Given the description of an element on the screen output the (x, y) to click on. 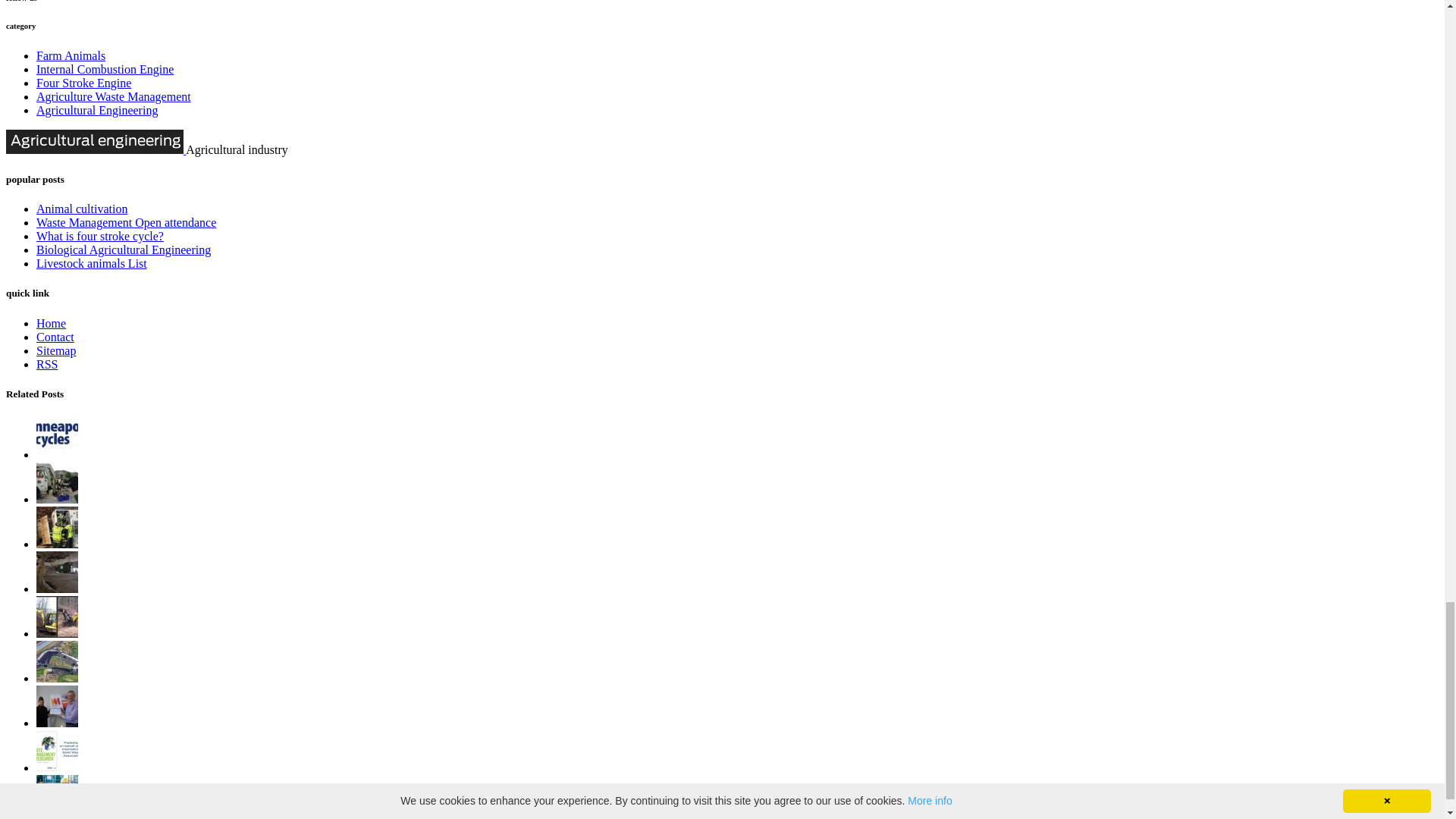
What is four stroke cycle? (99, 236)
View all posts filed under Four Stroke Engine (83, 82)
View all posts filed under Farm Animals (70, 55)
Waste Management Open attendance (125, 222)
View all posts filed under Agriculture Waste Management (113, 96)
View all posts filed under Internal Combustion Engine (104, 69)
Animal cultivation (82, 208)
Biological Agricultural Engineering (123, 249)
View all posts filed under Agricultural Engineering (96, 110)
